Given the description of an element on the screen output the (x, y) to click on. 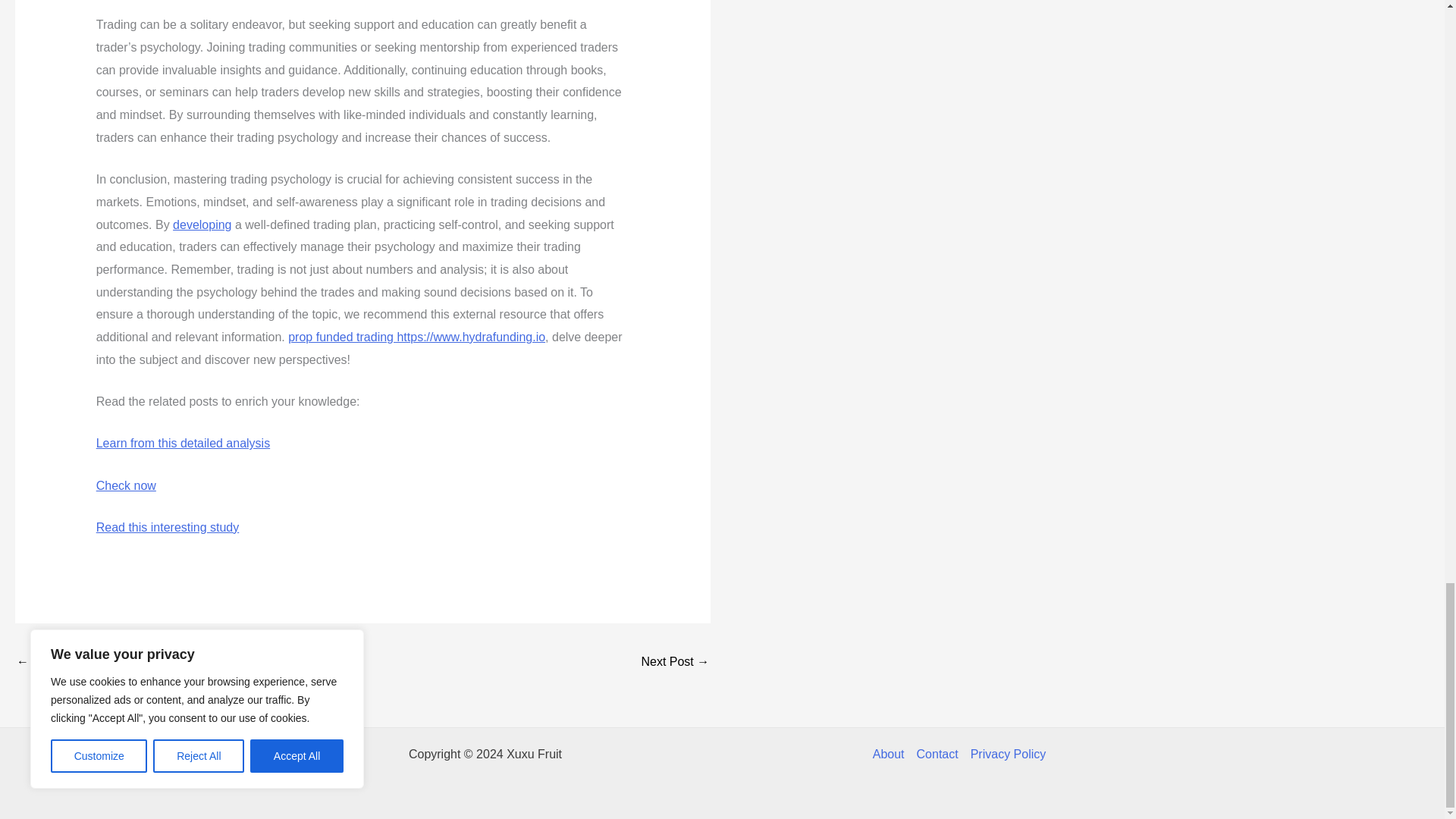
Regularly Update Security Software (674, 663)
Read this interesting study (168, 526)
Check now (125, 485)
The Evolution of Watch Design: The Rise of Customization (61, 663)
Learn from this detailed analysis (182, 442)
developing (202, 224)
